Given the description of an element on the screen output the (x, y) to click on. 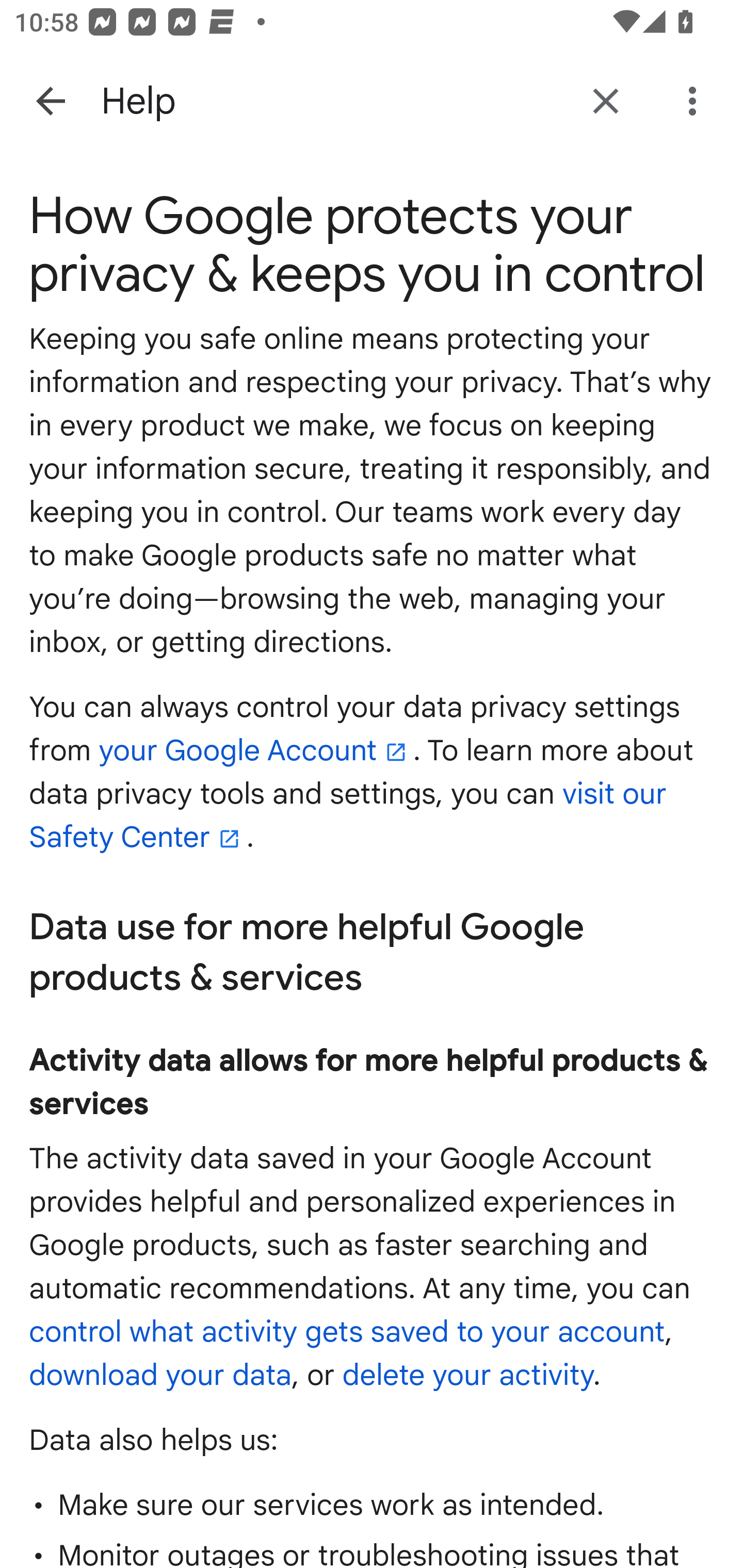
Navigate up (50, 101)
Return to Google News (605, 101)
More options (696, 101)
your Google Account (255, 750)
visit our Safety Center (347, 816)
control what activity gets saved to your account (347, 1331)
download your data (160, 1376)
delete your activity (467, 1376)
